Given the description of an element on the screen output the (x, y) to click on. 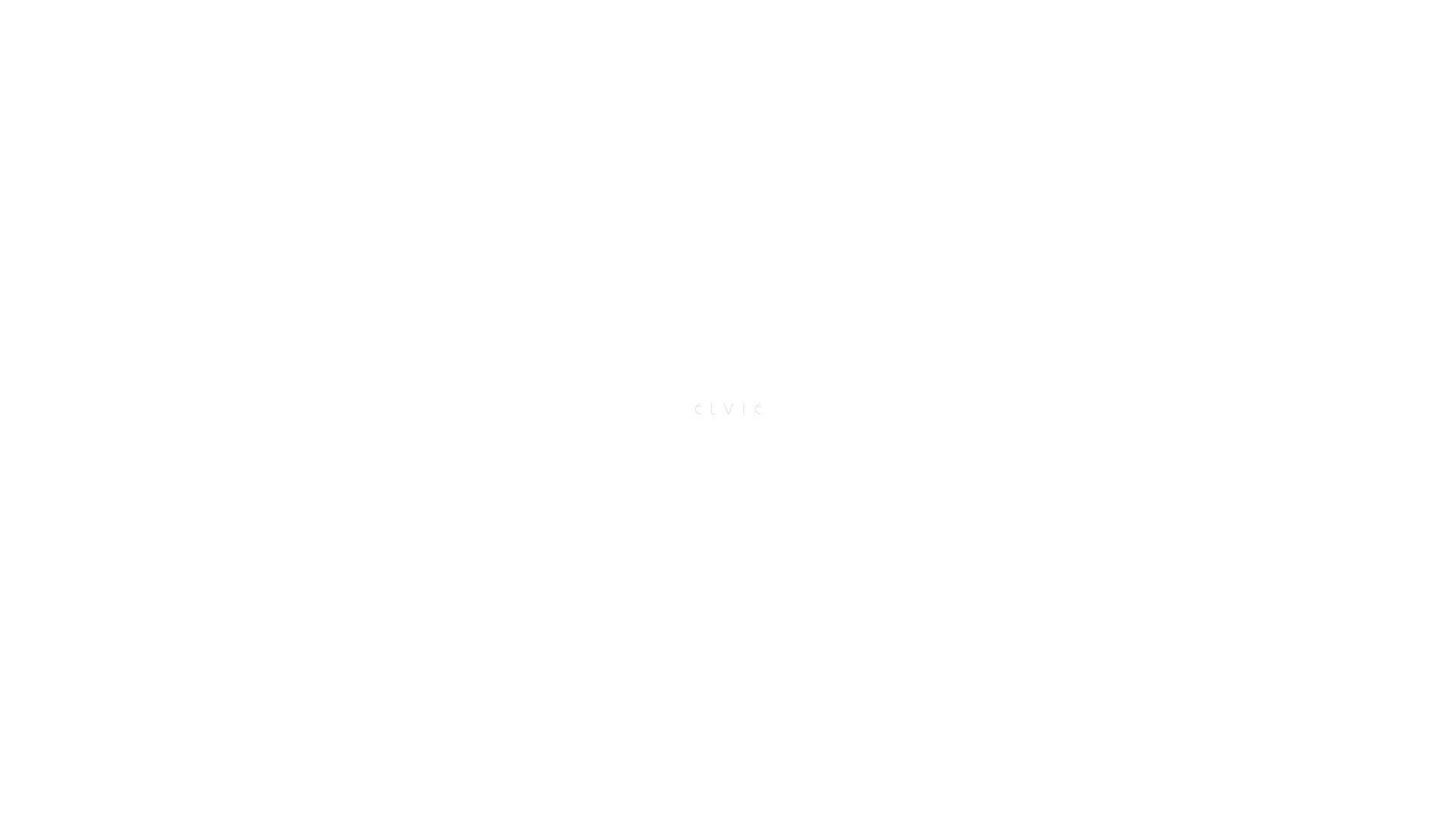
Next Element type: hover (413, 282)
Close (esc) Element type: text (69, 61)
Skip to content Element type: text (47, 25)
Close (esc) Element type: hover (266, 447)
Previous Element type: hover (119, 282)
